Given the description of an element on the screen output the (x, y) to click on. 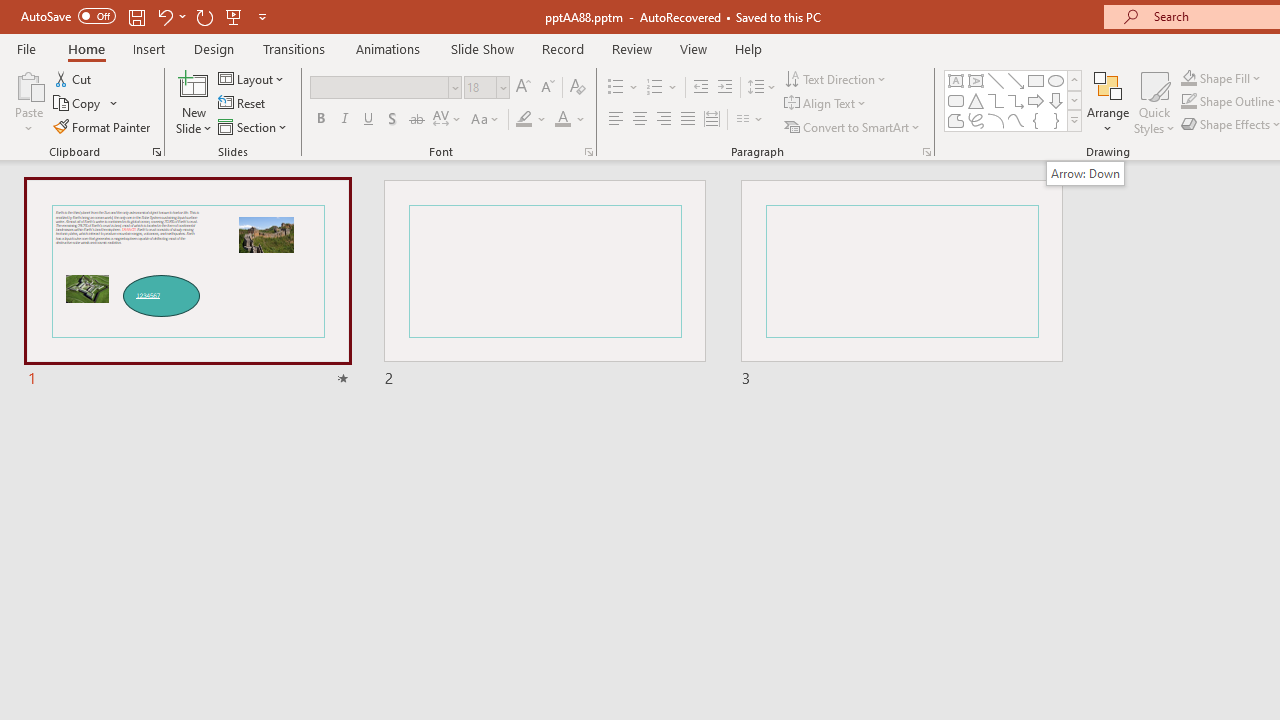
Underline (369, 119)
Decrease Indent (700, 87)
Arrange (1108, 102)
Layout (252, 78)
Increase Font Size (522, 87)
Format Painter (103, 126)
Clear Formatting (577, 87)
Oval (1055, 80)
Open (502, 87)
Line Arrow (1016, 80)
Arc (995, 120)
Font Color Red (562, 119)
Increase Indent (725, 87)
